Given the description of an element on the screen output the (x, y) to click on. 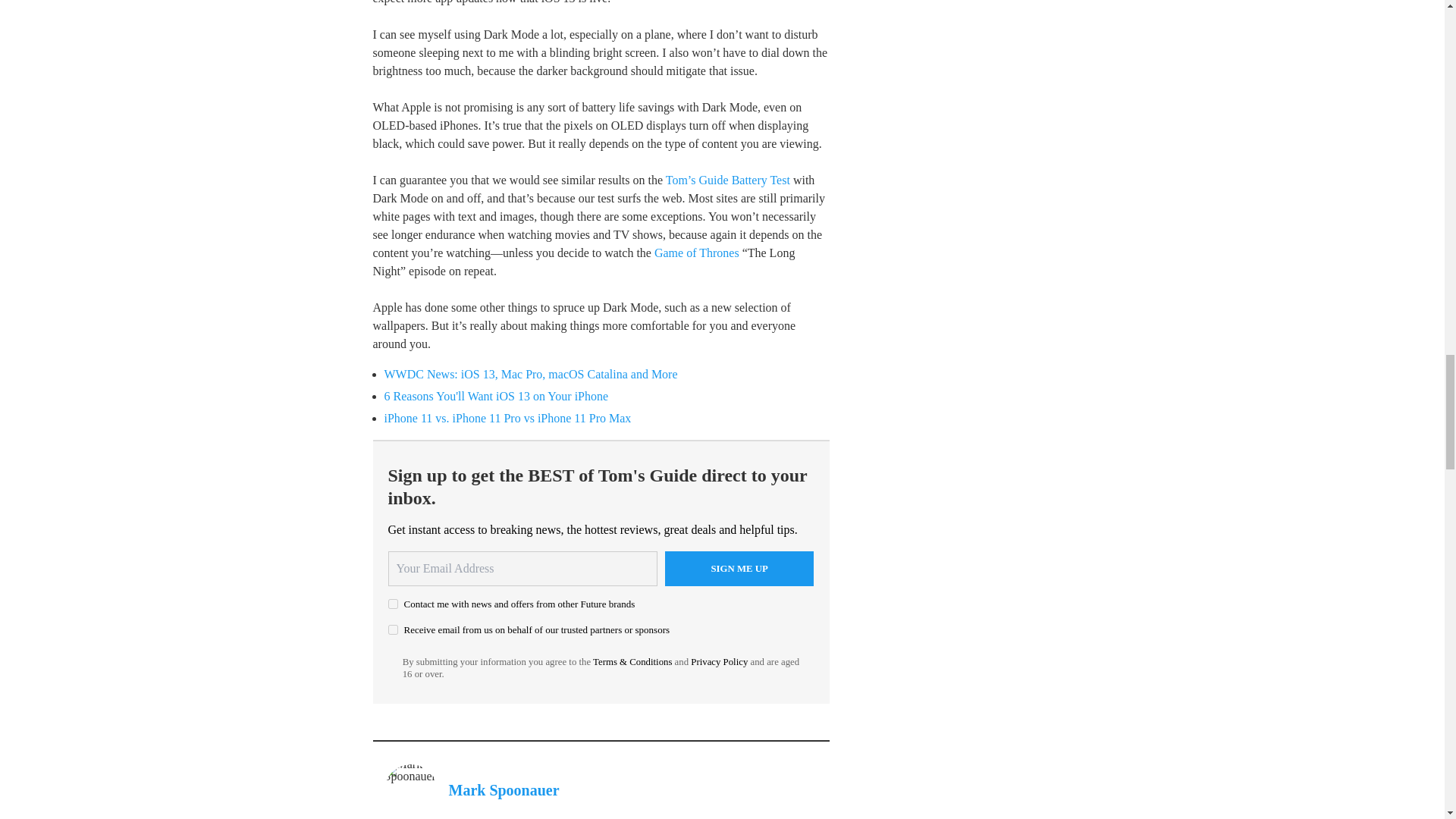
on (392, 629)
on (392, 603)
Sign me up (739, 568)
